Given the description of an element on the screen output the (x, y) to click on. 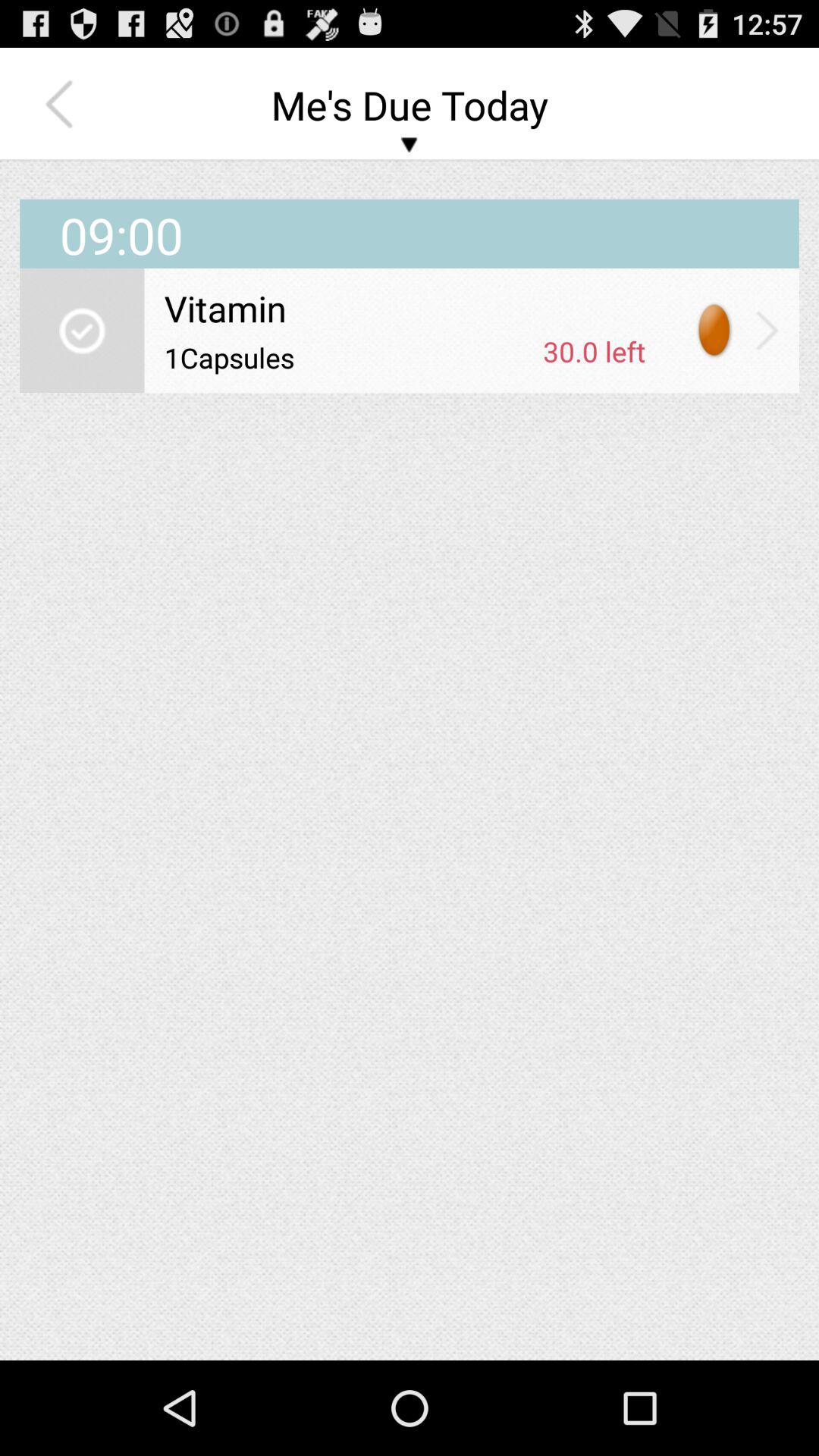
turn on item above the 09:00 item (63, 104)
